Given the description of an element on the screen output the (x, y) to click on. 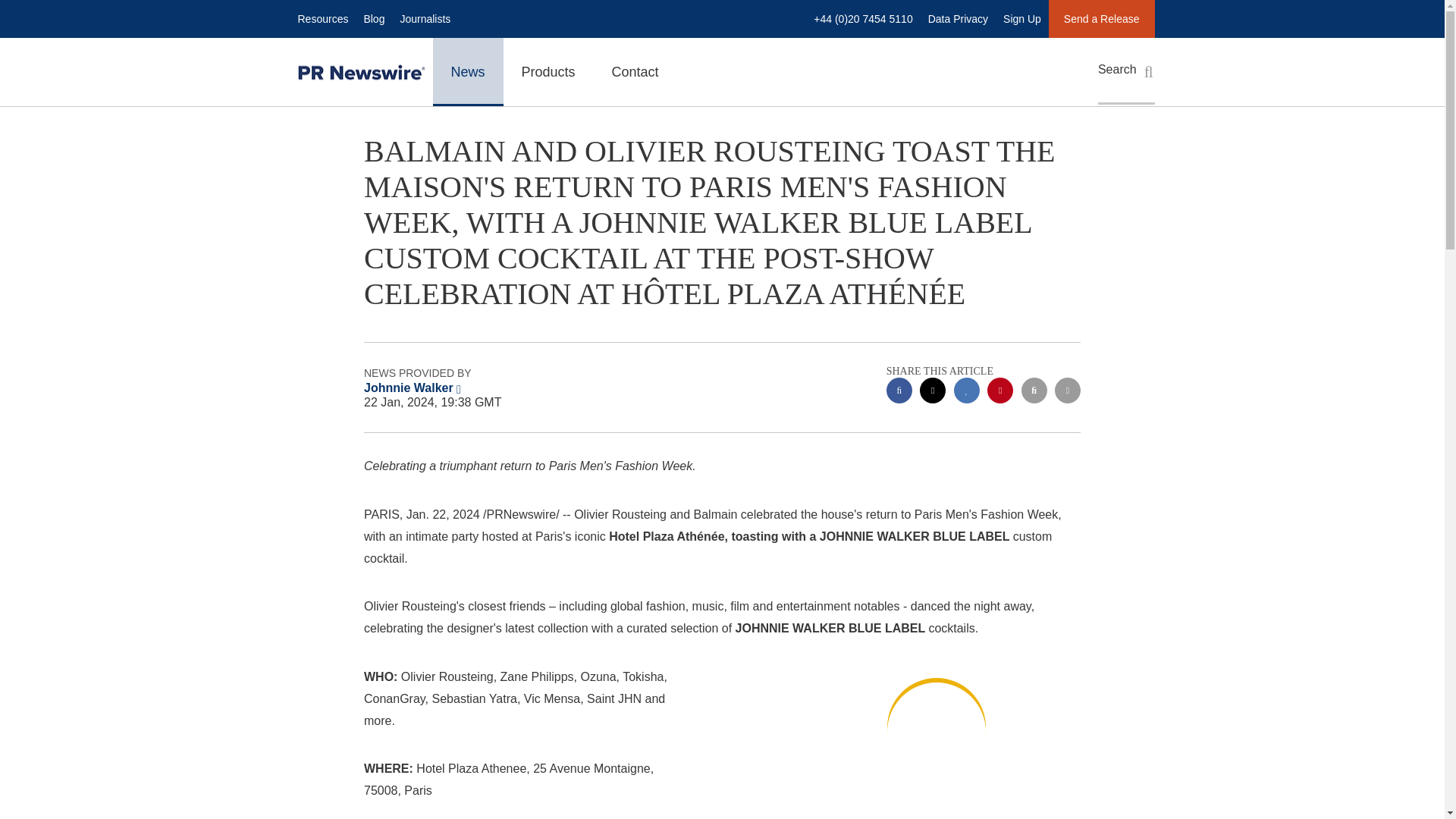
Sign Up (1021, 18)
Journalists (424, 18)
Products (548, 71)
Data Privacy (957, 18)
Contact (635, 71)
Blog (373, 18)
Resources (322, 18)
Send a Release (1101, 18)
News (467, 71)
